Given the description of an element on the screen output the (x, y) to click on. 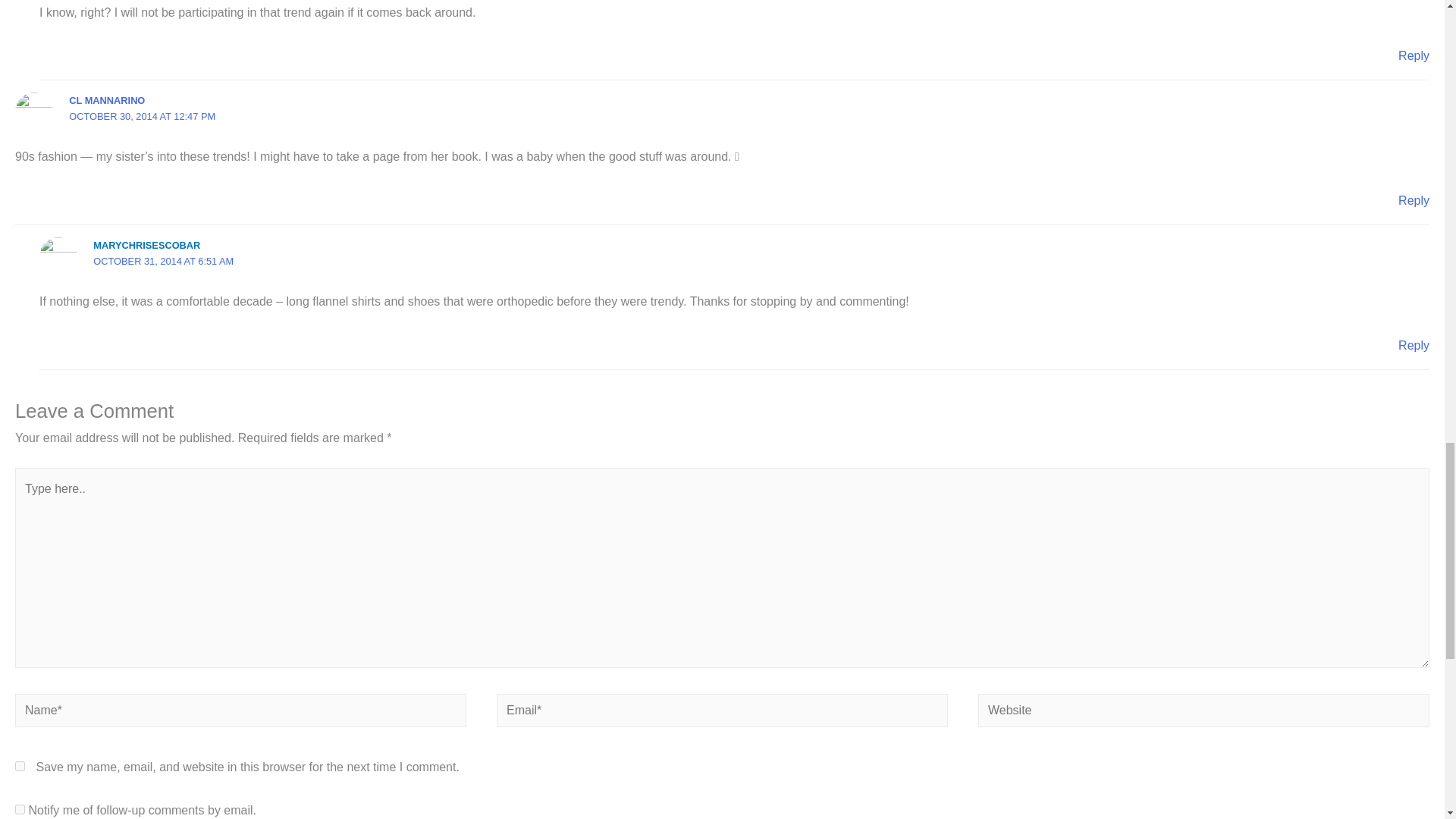
CL MANNARINO (106, 100)
yes (19, 766)
Reply (1413, 55)
OCTOBER 30, 2014 AT 12:47 PM (141, 116)
subscribe (19, 809)
Reply (1413, 345)
OCTOBER 31, 2014 AT 6:51 AM (162, 260)
Reply (1413, 200)
